Given the description of an element on the screen output the (x, y) to click on. 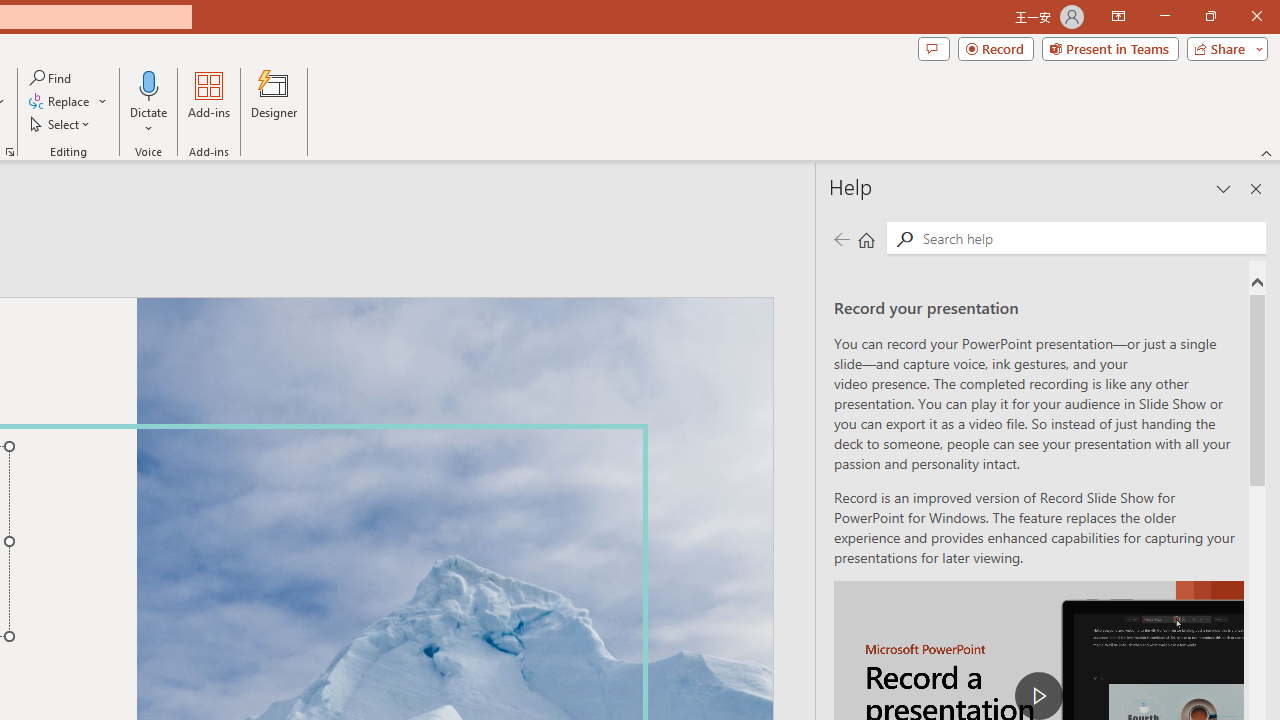
Previous page (841, 238)
